Given the description of an element on the screen output the (x, y) to click on. 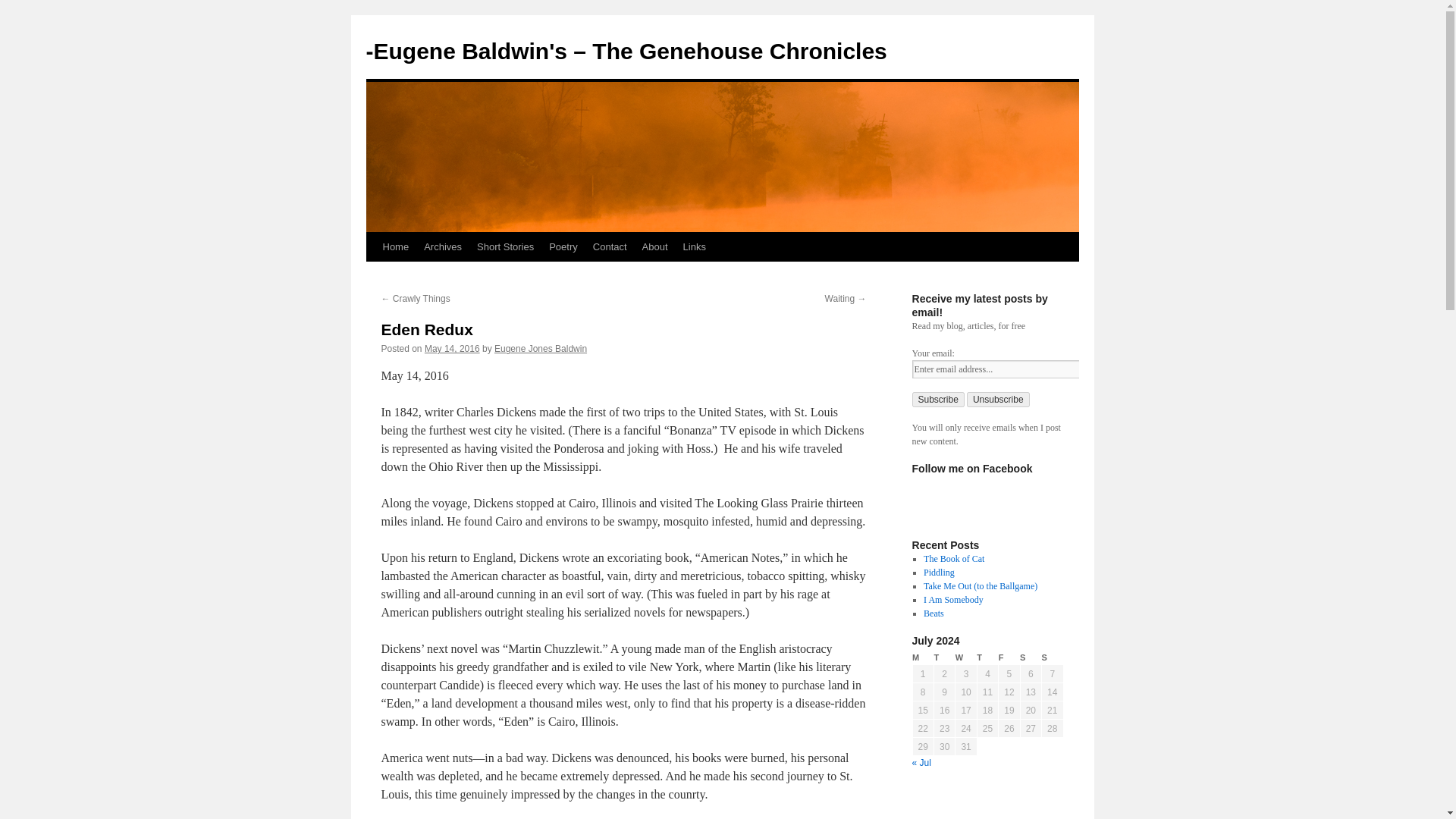
Home (395, 246)
Monday (922, 657)
Unsubscribe (997, 399)
Subscribe (937, 399)
Wednesday (965, 657)
Friday (1009, 657)
Tuesday (944, 657)
11:36 pm (452, 348)
Piddling (939, 572)
Archives (442, 246)
About (654, 246)
Poetry (563, 246)
Thursday (986, 657)
The Book of Cat (953, 558)
View all posts by Eugene Jones Baldwin (540, 348)
